Given the description of an element on the screen output the (x, y) to click on. 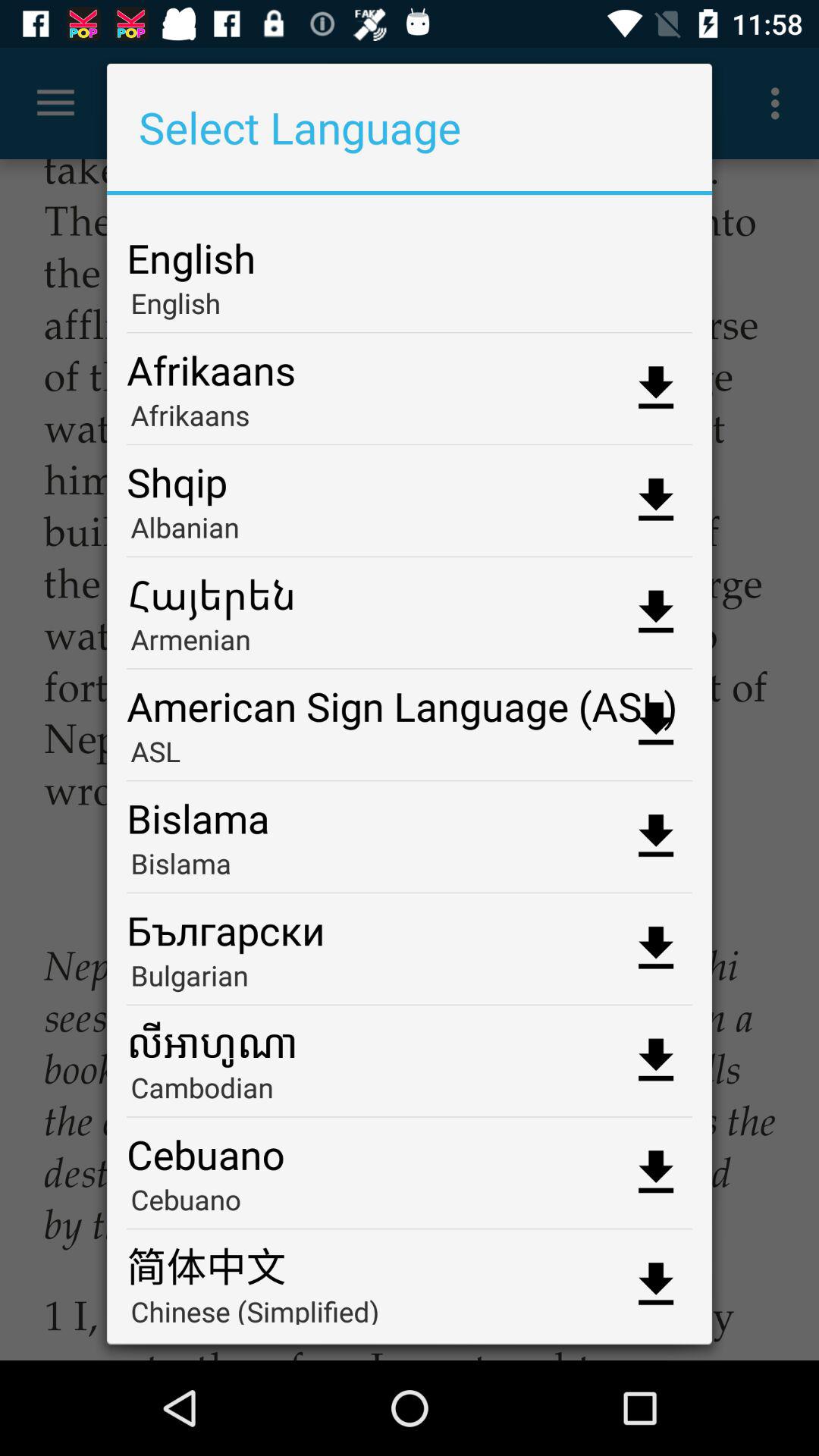
choose shqip (409, 476)
